Given the description of an element on the screen output the (x, y) to click on. 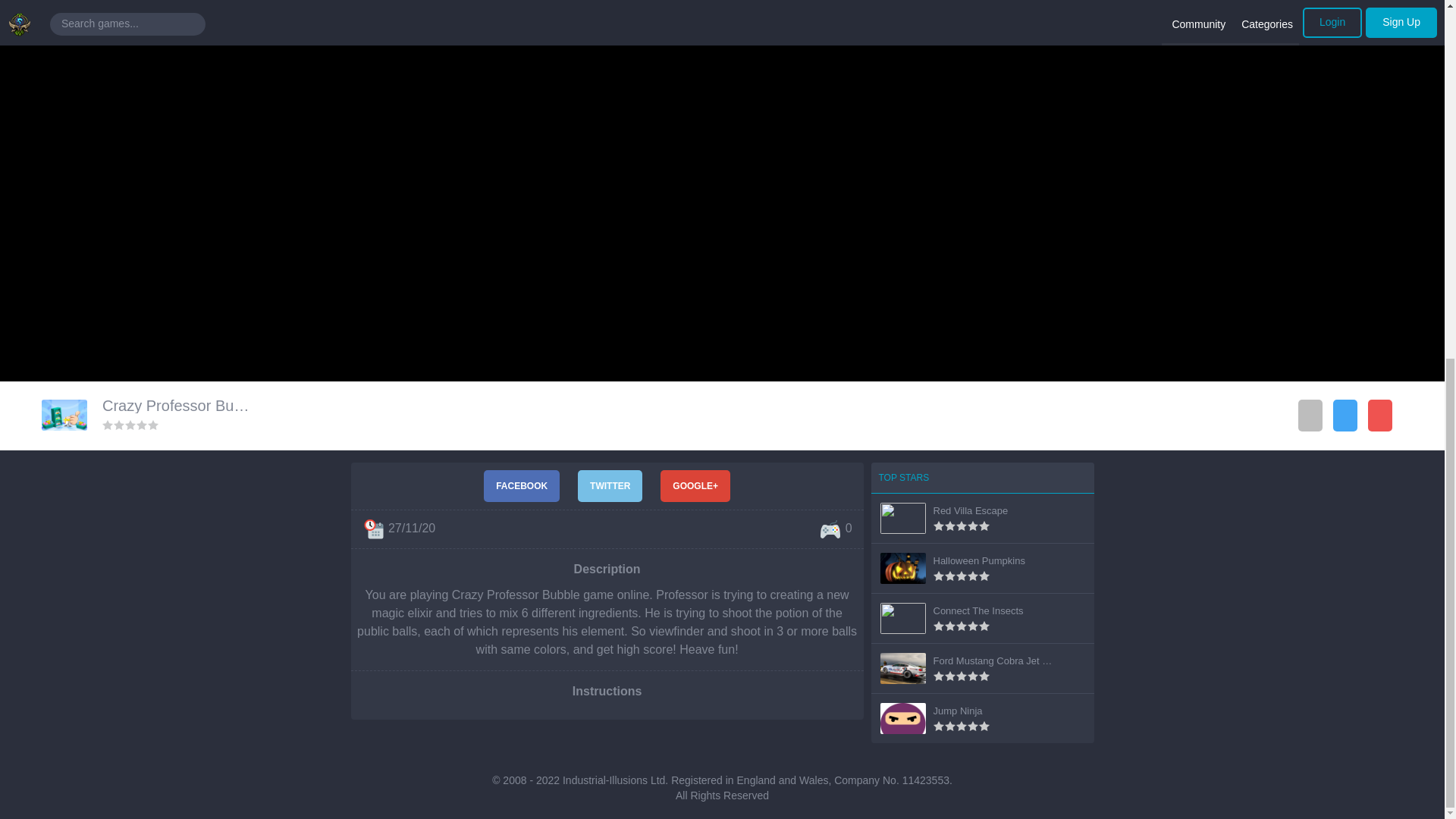
Jump Ninja (957, 710)
Connect The Insects (978, 610)
0 of 5 Stars (129, 424)
TWITTER (610, 486)
FACEBOOK (521, 486)
Halloween Pumpkins (979, 560)
Ford Mustang Cobra Jet Slide (998, 660)
Red Villa Escape (970, 510)
